Given the description of an element on the screen output the (x, y) to click on. 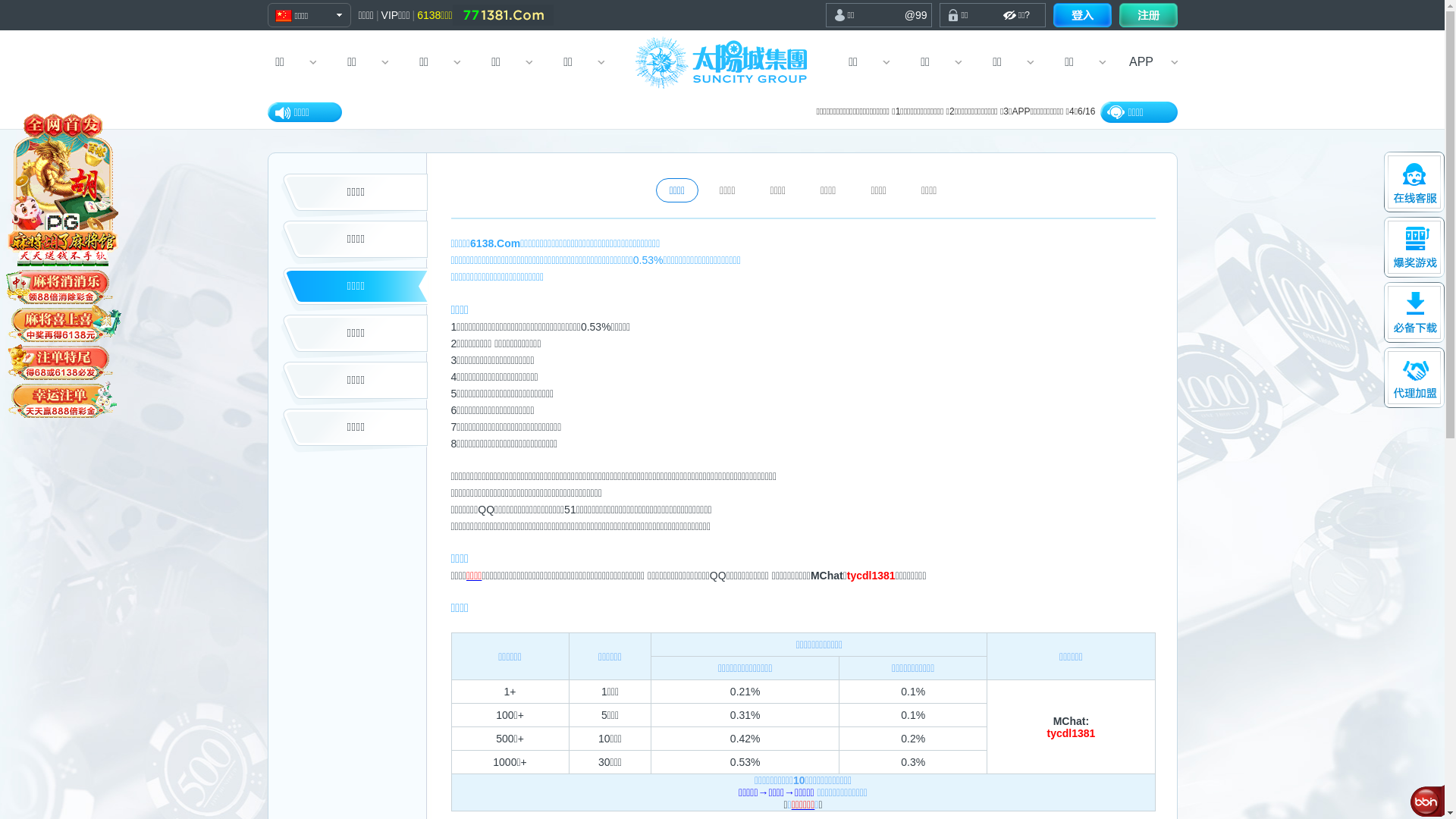
APP Element type: text (1141, 62)
